Given the description of an element on the screen output the (x, y) to click on. 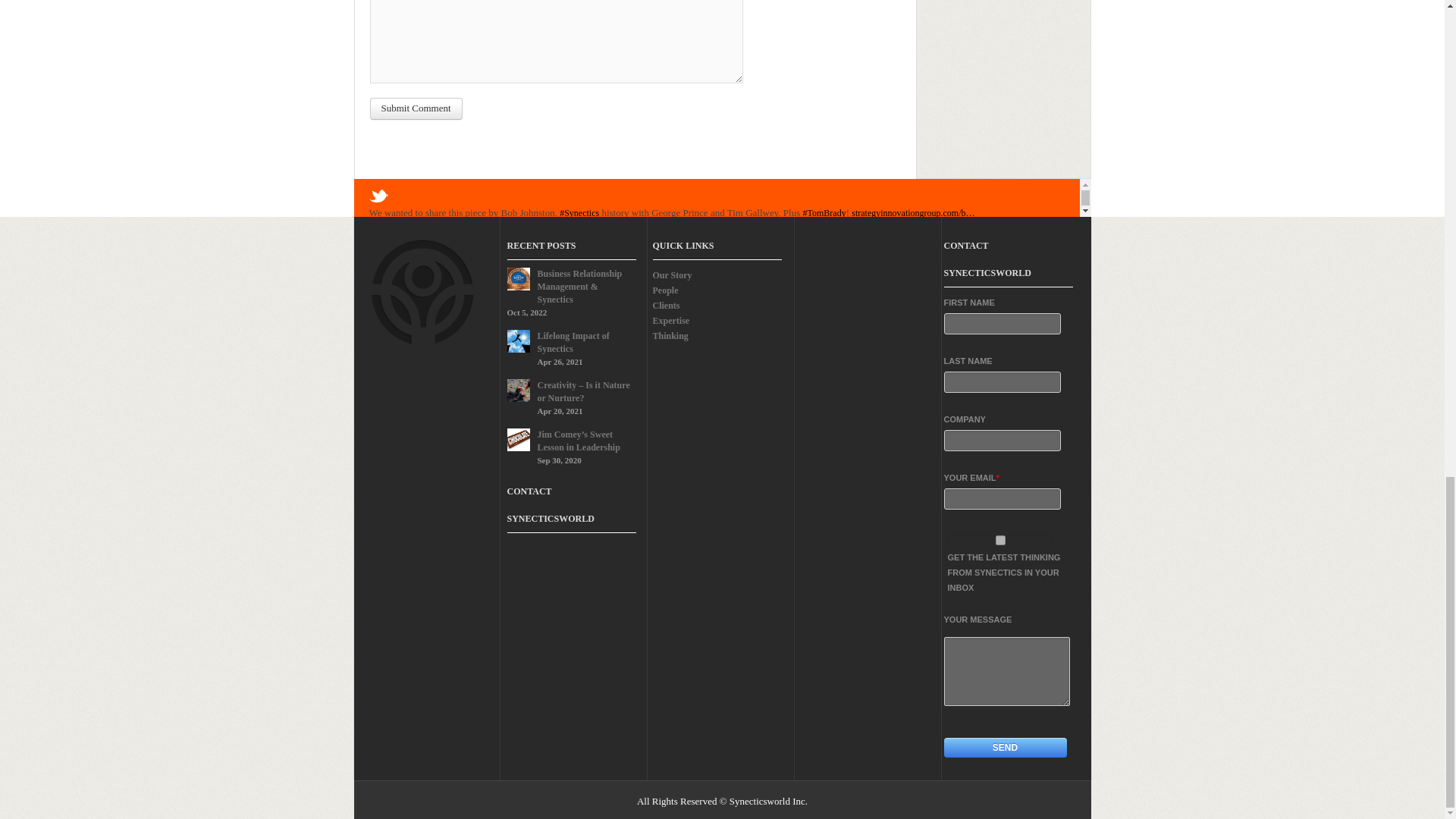
Synecticsworld (499, 225)
Send (1004, 747)
true (1000, 540)
